Given the description of an element on the screen output the (x, y) to click on. 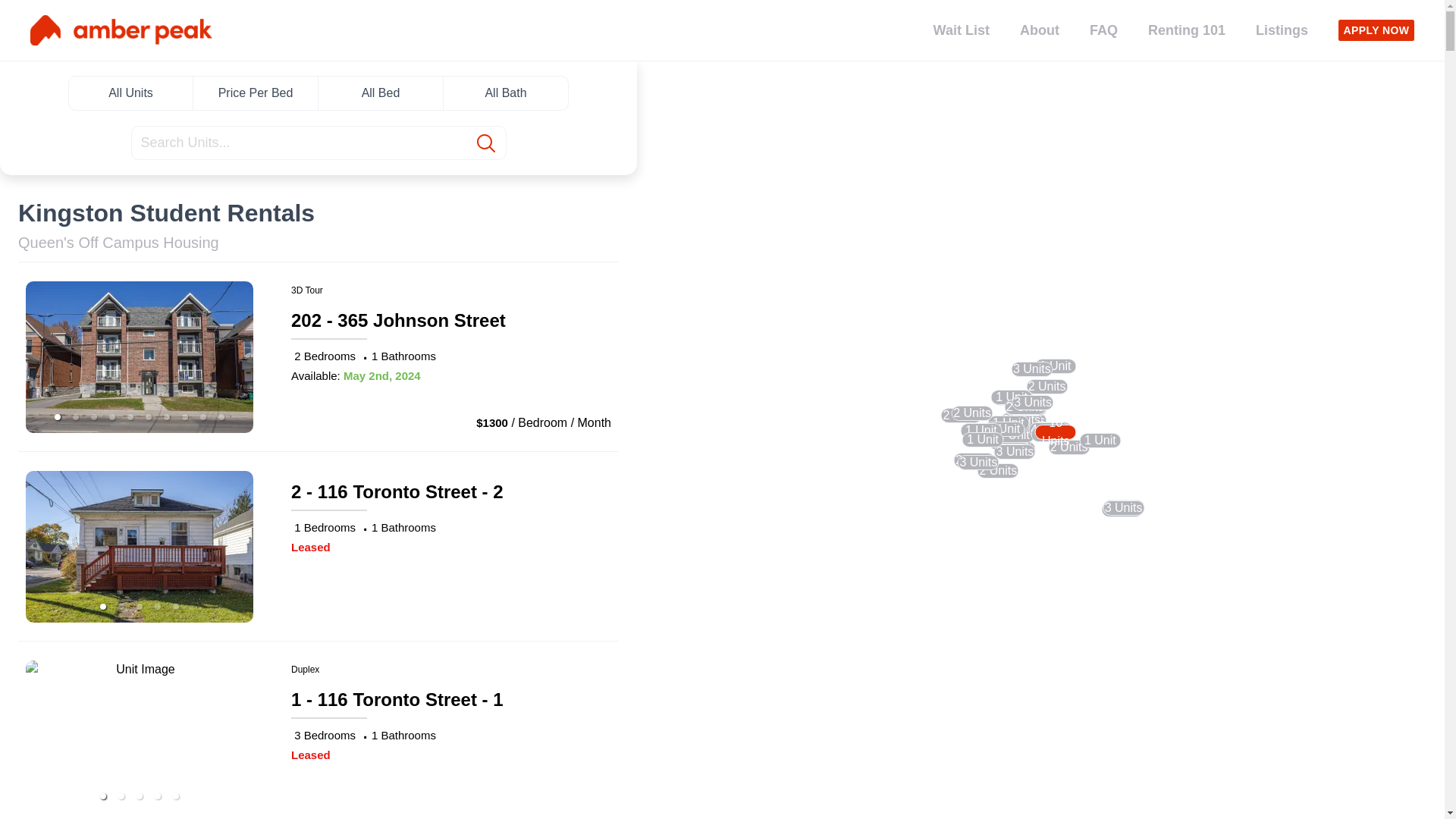
APPLY NOW Element type: text (1376, 29)
Renting 101 Element type: text (1186, 29)
Wait List Element type: text (961, 29)
Listings Element type: text (1281, 29)
About Element type: text (1039, 29)
FAQ Element type: text (1103, 29)
